Given the description of an element on the screen output the (x, y) to click on. 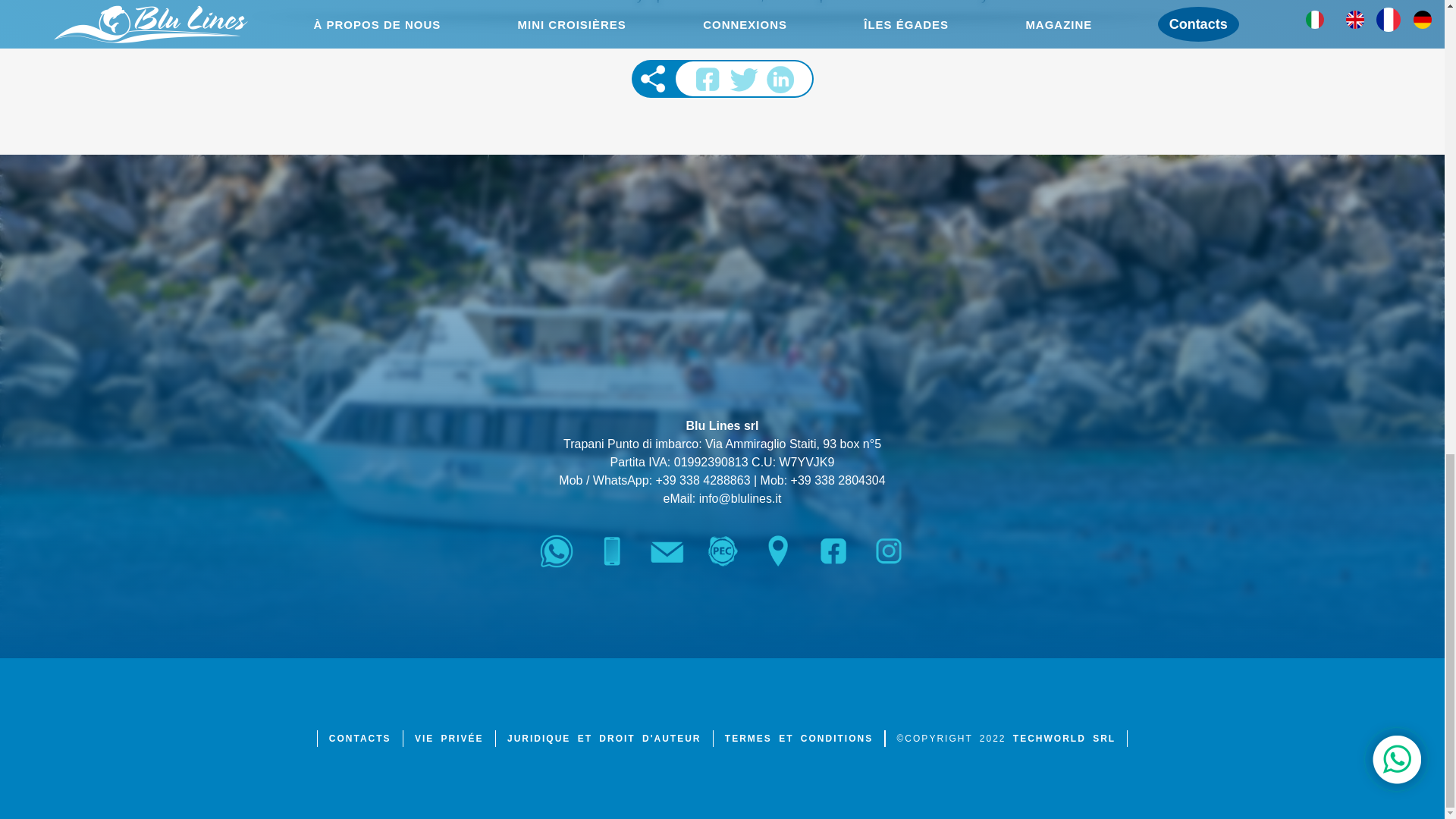
Suis nous sur instagram (888, 551)
naviga verso (777, 551)
JURIDIQUE ET DROIT D'AUTEUR (604, 738)
CONTACTS (360, 738)
Suivez comme sur Facebook (831, 551)
